Given the description of an element on the screen output the (x, y) to click on. 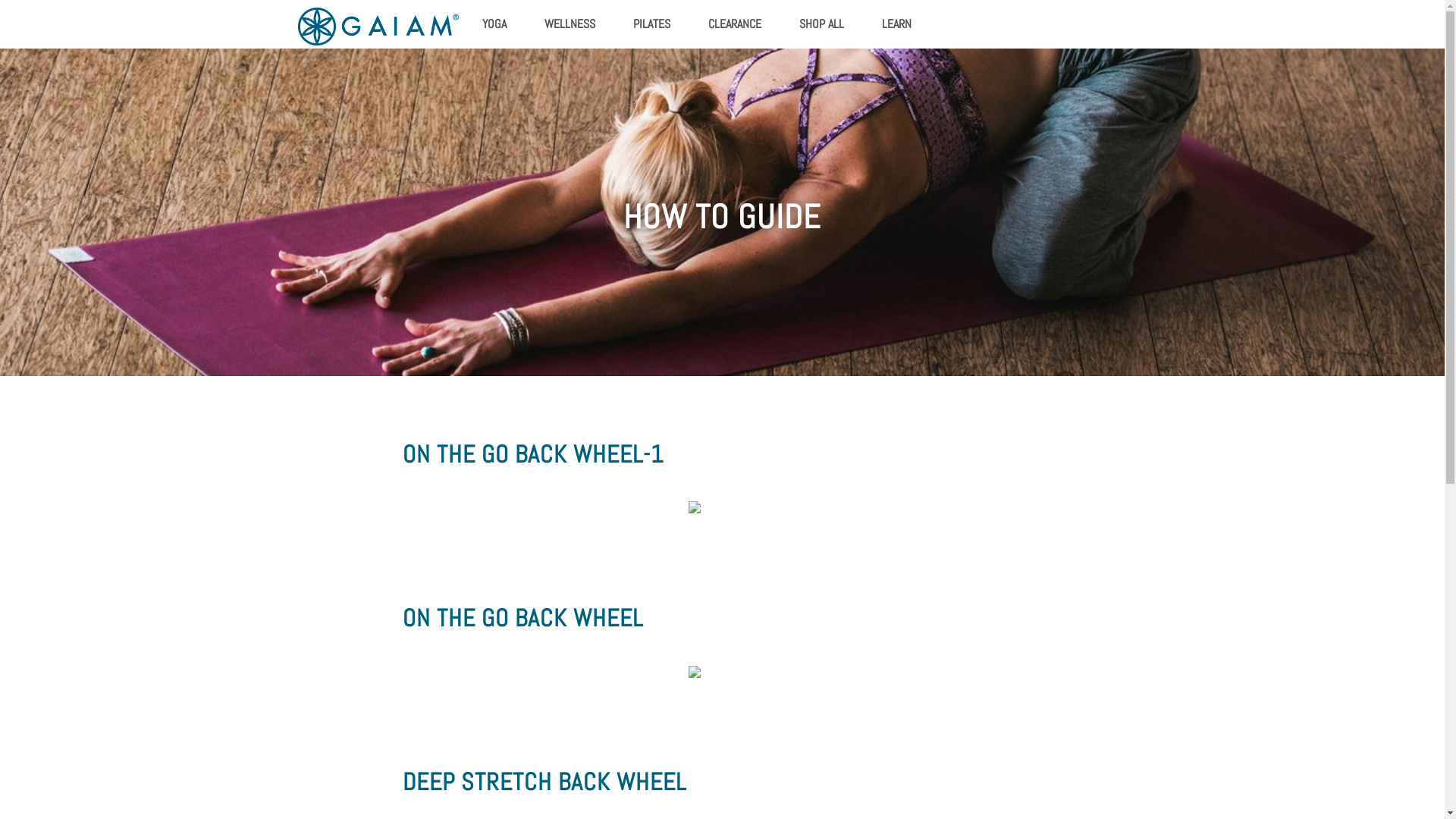
CLEARANCE Element type: text (734, 24)
WELLNESS Element type: text (569, 24)
SHOP ALL Element type: text (821, 24)
LEARN Element type: text (896, 24)
PILATES Element type: text (651, 24)
YOGA Element type: text (494, 24)
